Given the description of an element on the screen output the (x, y) to click on. 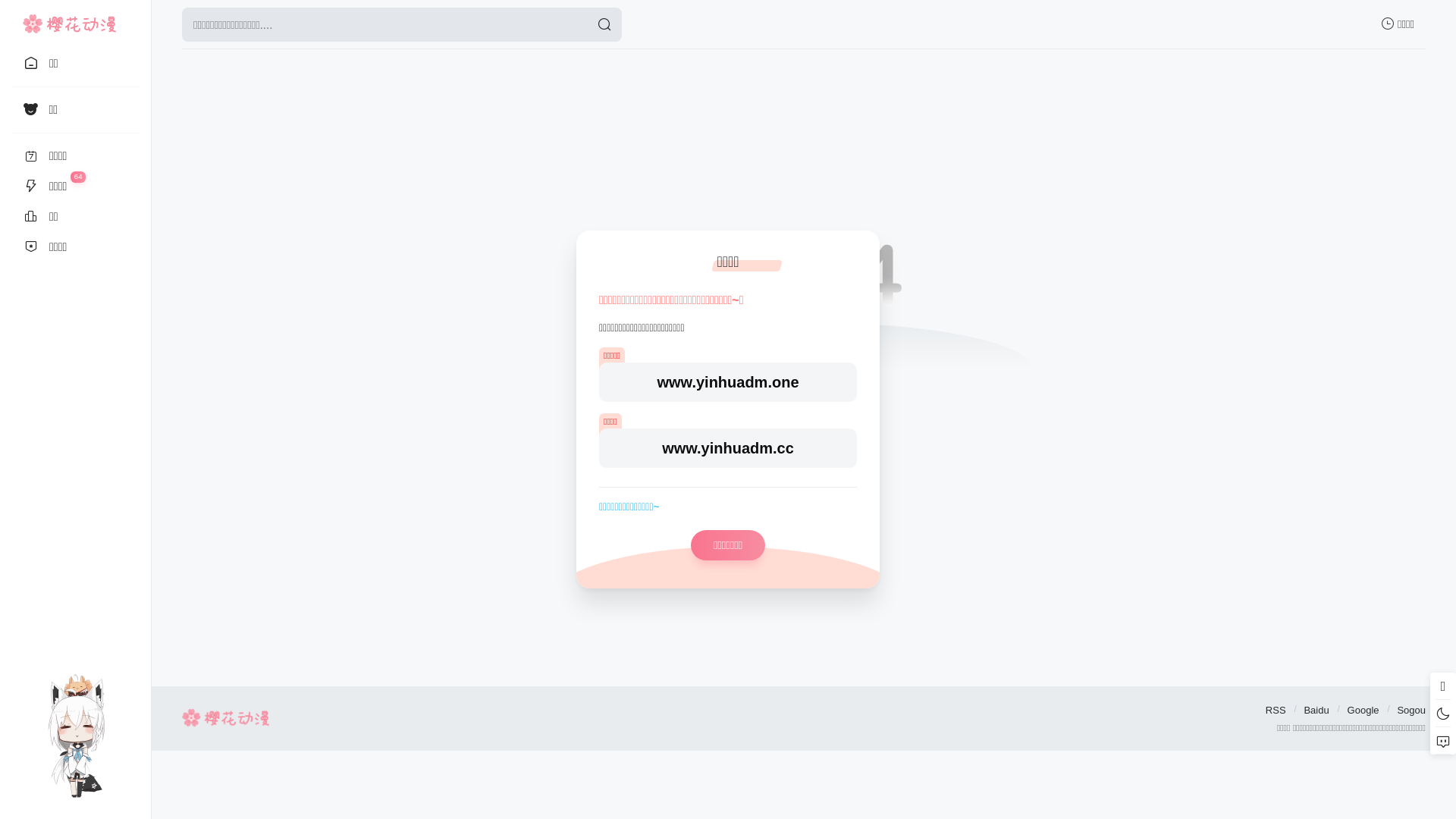
www.yinhuadm.cc Element type: text (727, 447)
RSS Element type: text (1275, 709)
Baidu Element type: text (1315, 709)
Google Element type: text (1363, 709)
Sogou Element type: text (1410, 709)
www.yinhuadm.one Element type: text (727, 381)
